Given the description of an element on the screen output the (x, y) to click on. 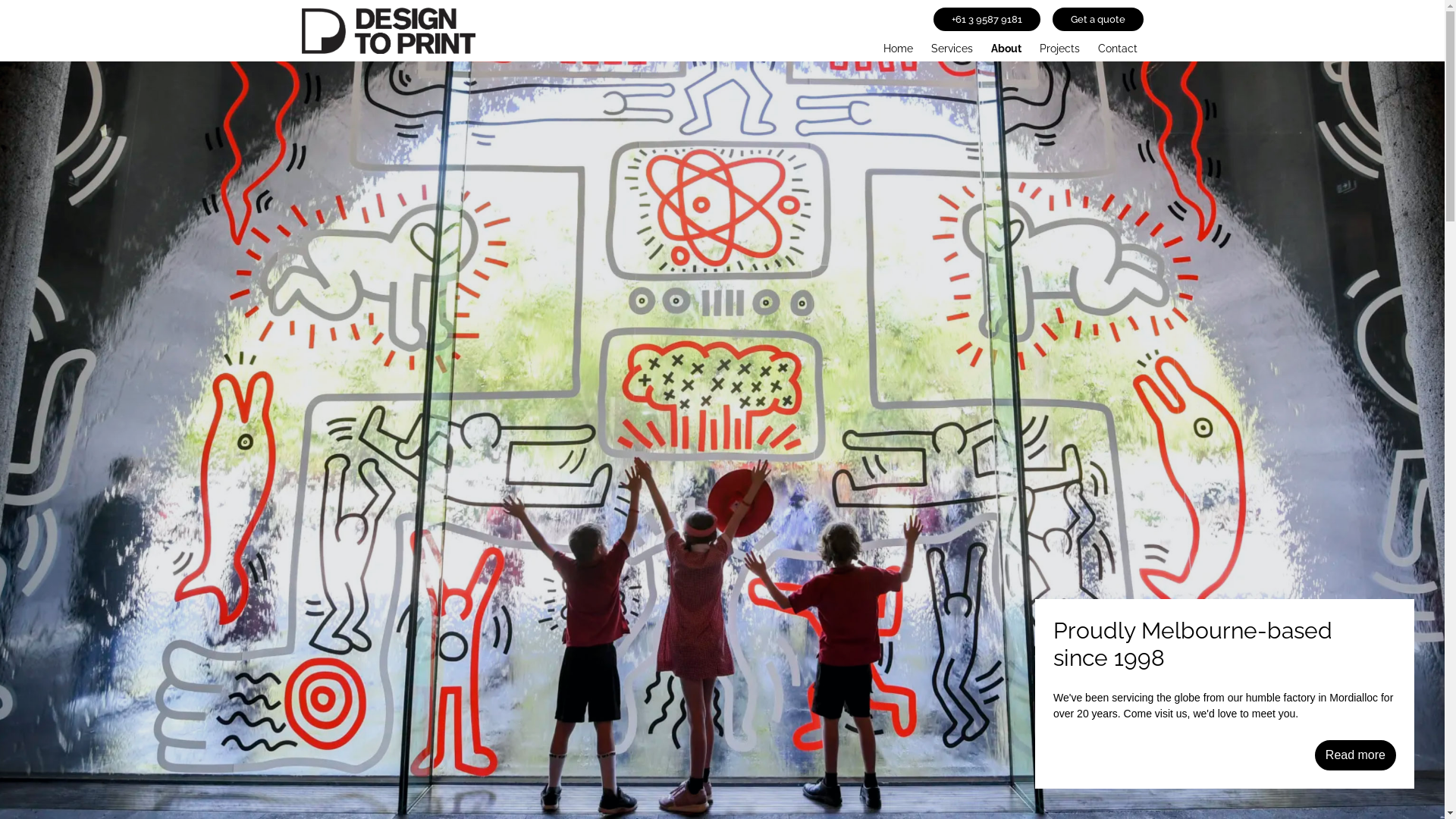
About Element type: text (1005, 45)
Home Element type: text (897, 45)
Services Element type: text (952, 45)
Read more Element type: text (1355, 755)
Contact Element type: text (1117, 45)
Projects Element type: text (1058, 45)
Get a quote Element type: text (1097, 19)
+61 3 9587 9181 Element type: text (985, 19)
